Given the description of an element on the screen output the (x, y) to click on. 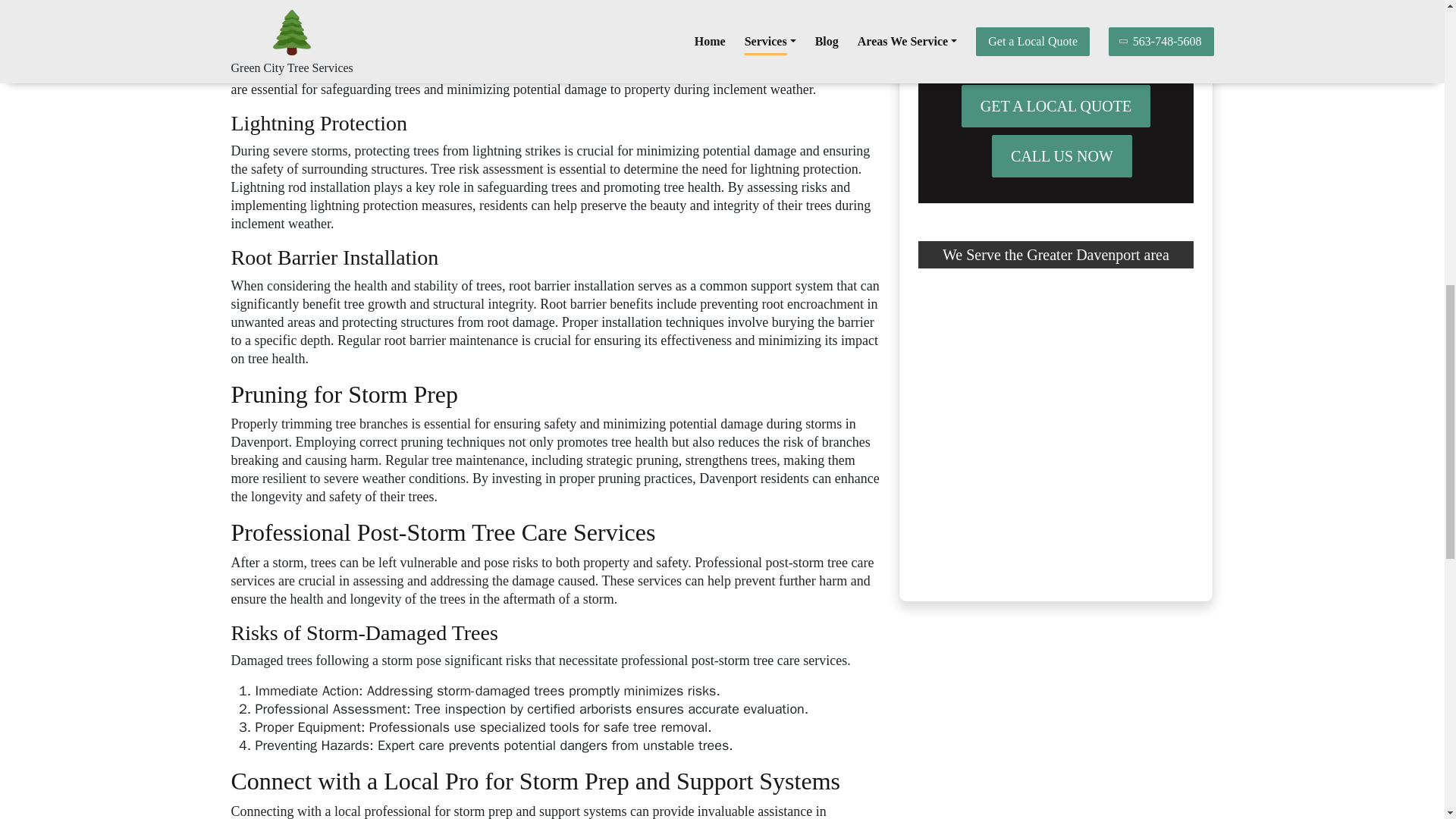
GET A LOCAL QUOTE (1055, 106)
CALL US NOW (1061, 156)
